Given the description of an element on the screen output the (x, y) to click on. 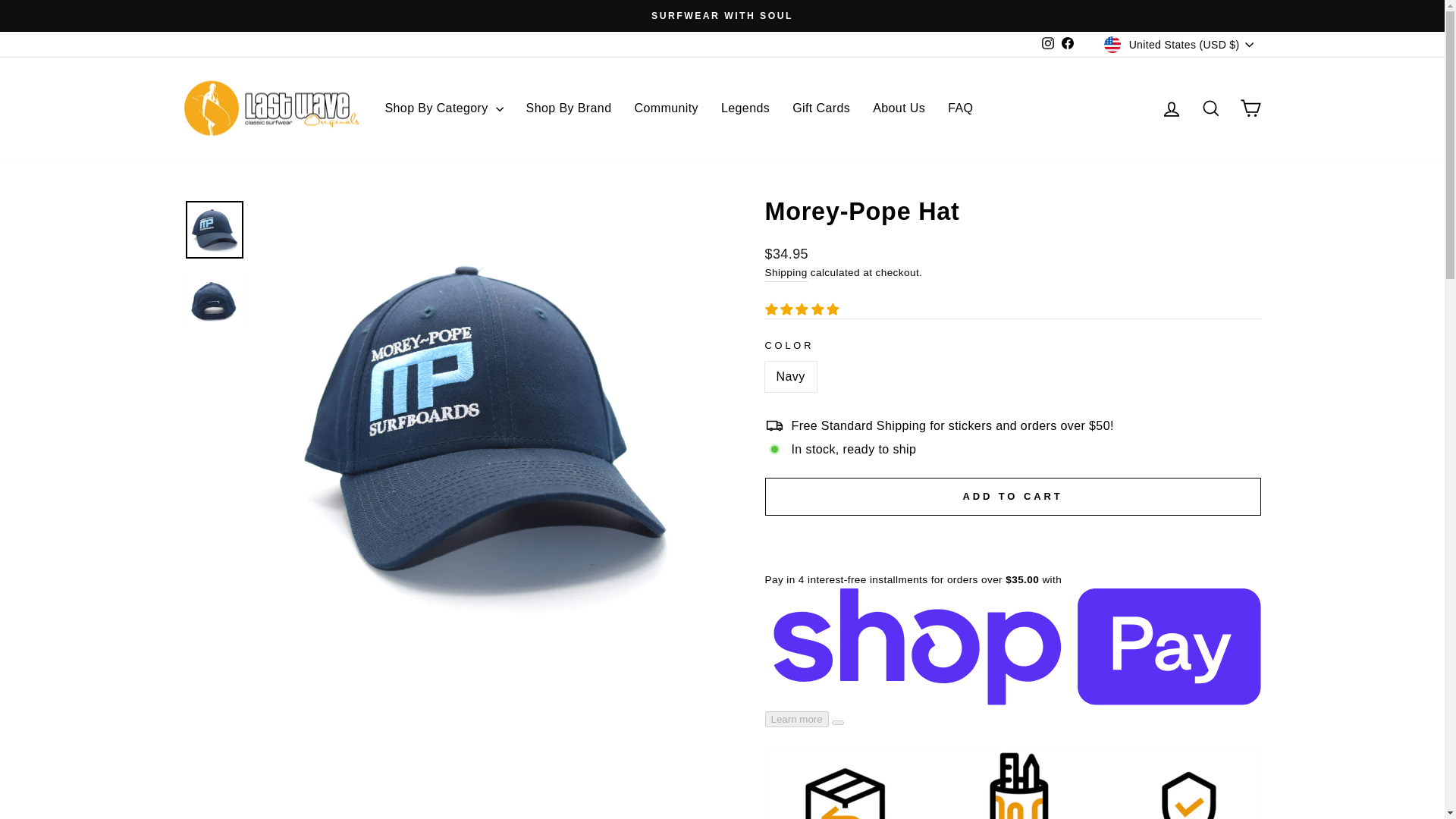
icon-search (1210, 107)
instagram (1048, 42)
account (1170, 108)
